Given the description of an element on the screen output the (x, y) to click on. 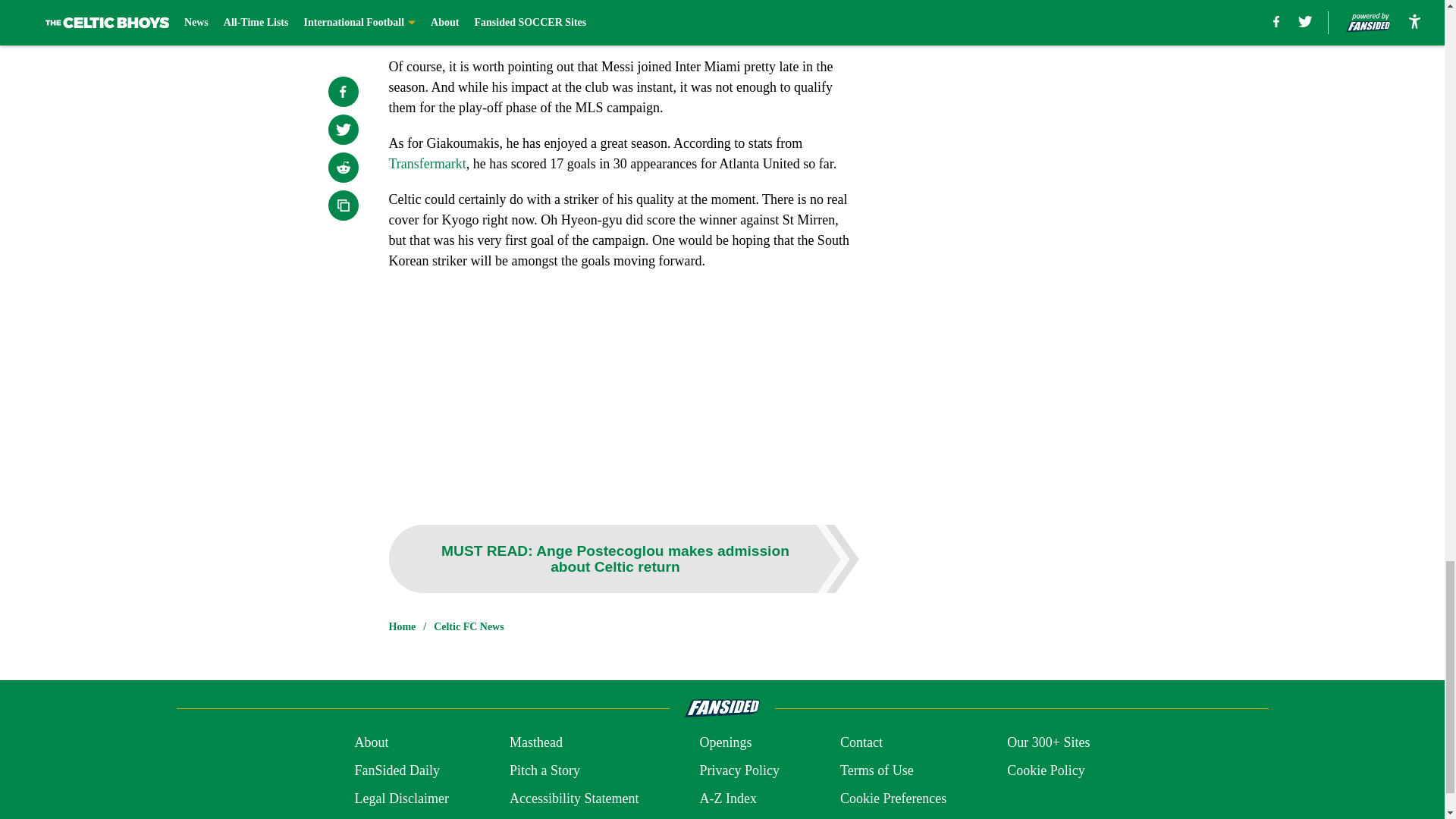
Cookie Policy (1045, 770)
A-Z Index (726, 798)
Openings (724, 742)
Privacy Policy (738, 770)
Contact (861, 742)
Terms of Use (877, 770)
About (370, 742)
Masthead (535, 742)
Transfermarkt (426, 163)
Legal Disclaimer (400, 798)
Accessibility Statement (574, 798)
Cookie Preferences (893, 798)
Celtic FC News (468, 626)
Home (401, 626)
